Given the description of an element on the screen output the (x, y) to click on. 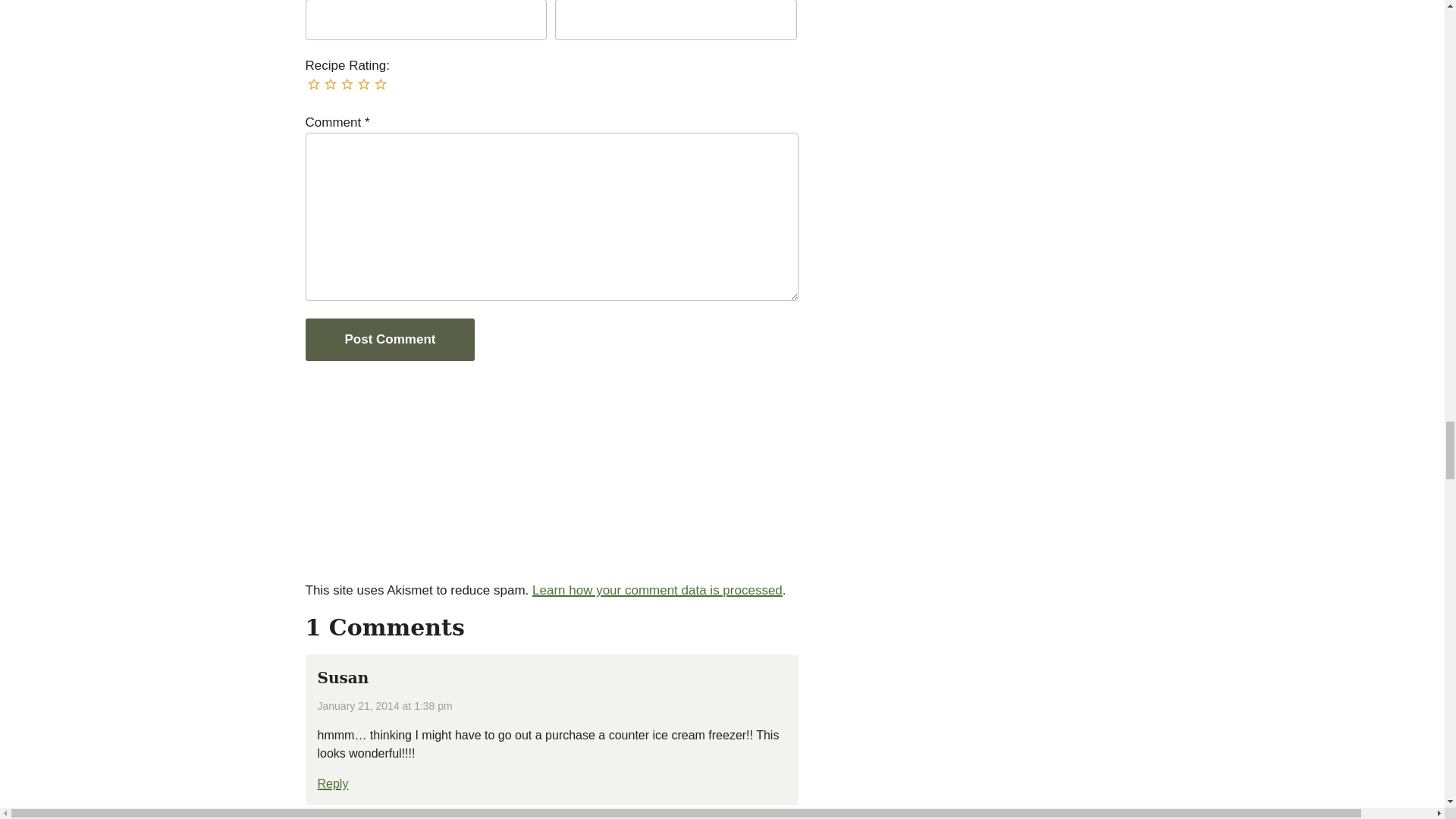
Post Comment (389, 339)
